Given the description of an element on the screen output the (x, y) to click on. 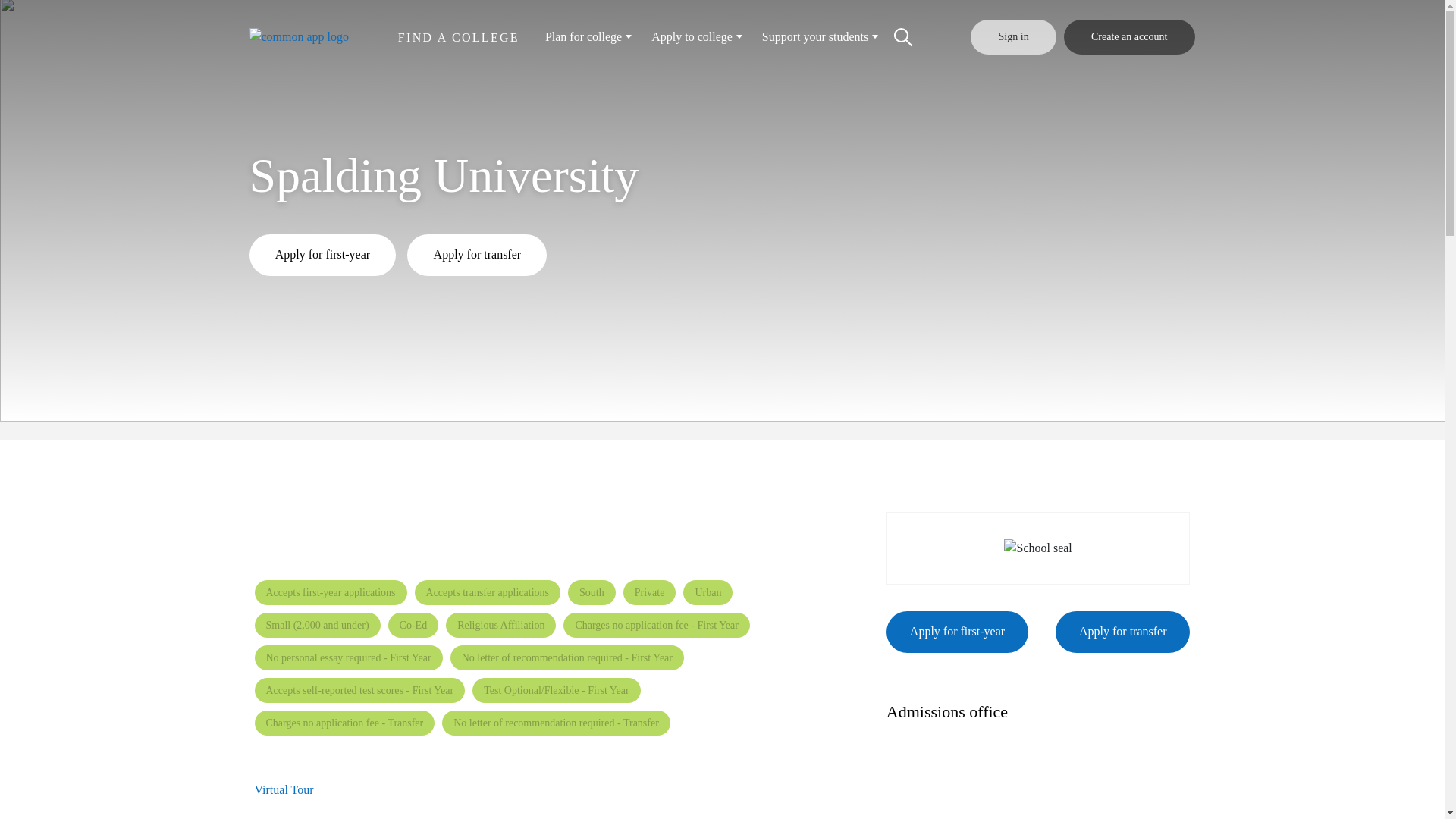
Plan for college (586, 36)
Apply to college (694, 36)
Accepts first-year applications (330, 592)
Accepts self-reported test scores - First Year (359, 690)
Charges no application fee - First Year (656, 625)
Accepts transfer applications (487, 592)
Create an account (1129, 36)
Apply for transfer (477, 255)
No letter of recommendation required - First Year (566, 657)
No letter of recommendation required - Transfer (555, 722)
Sign in (1013, 36)
South (591, 592)
Virtual Tour (284, 789)
Private (650, 592)
